Given the description of an element on the screen output the (x, y) to click on. 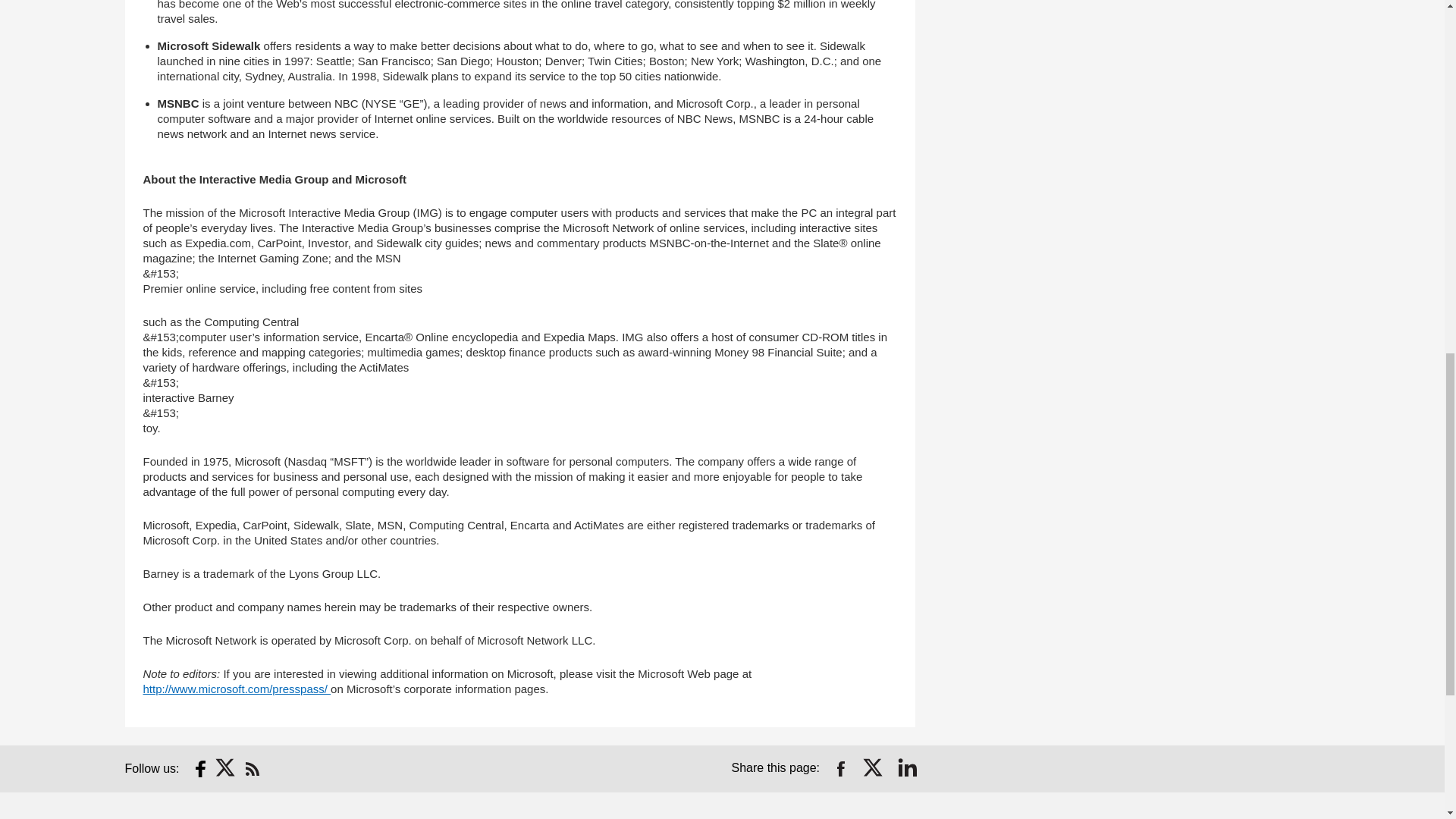
Share on LinkedIn (907, 768)
Share on Facebook (840, 768)
RSS Subscription (252, 768)
Follow on Facebook (200, 768)
Follow on Twitter (226, 768)
Share on Twitter (873, 768)
